Given the description of an element on the screen output the (x, y) to click on. 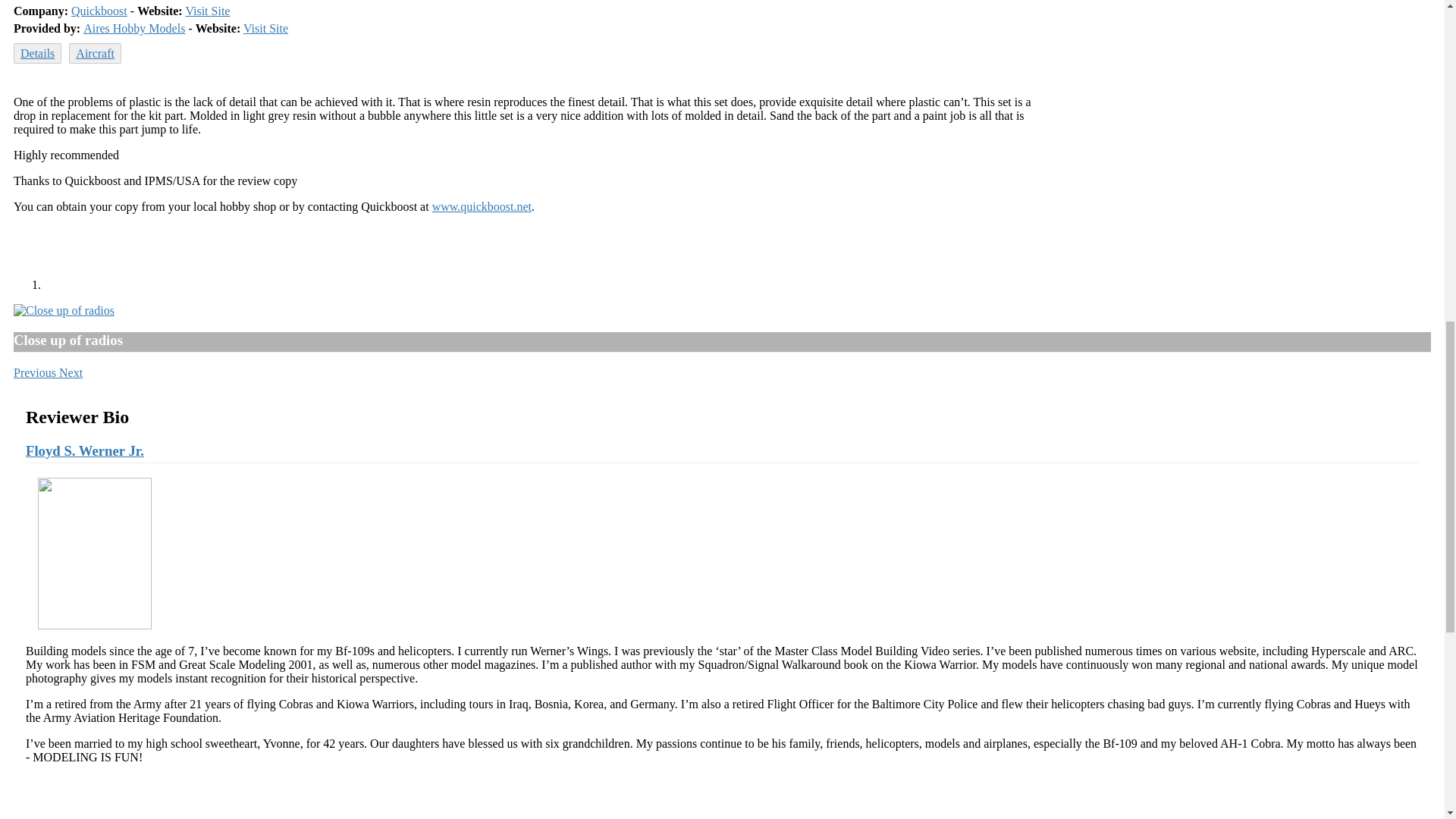
www.quickboost.net (481, 205)
Aircraft (94, 53)
Details (37, 53)
Next (70, 372)
Visit Site (265, 28)
Aires Hobby Models (133, 28)
Quickboost (99, 10)
Close up of radios (64, 309)
Close up of radios (64, 310)
Visit Site (207, 10)
